Given the description of an element on the screen output the (x, y) to click on. 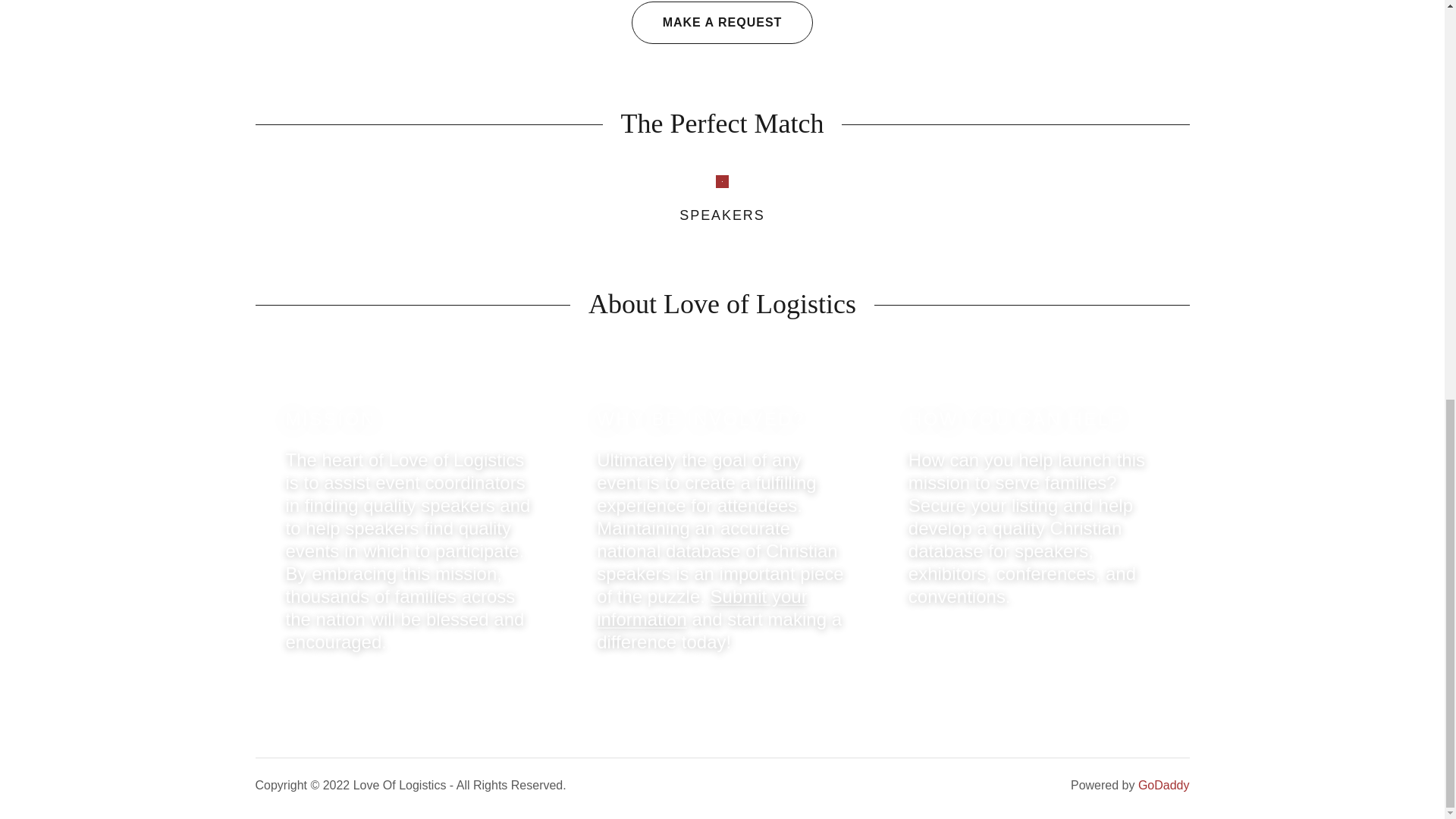
GoDaddy (1163, 784)
Submit your information (702, 607)
MAKE A REQUEST (722, 22)
